Given the description of an element on the screen output the (x, y) to click on. 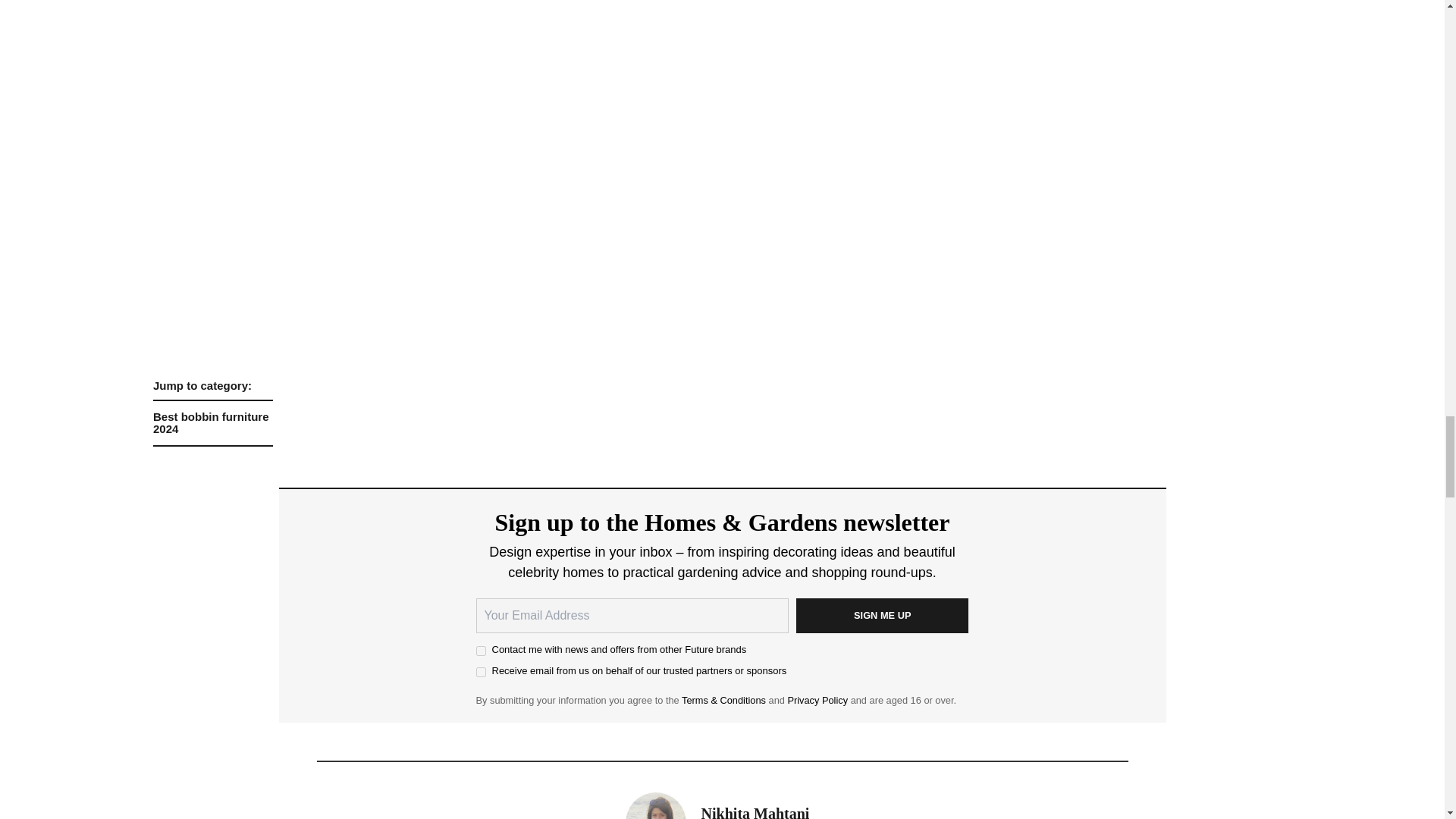
on (481, 651)
Sign me up (882, 615)
on (481, 672)
